Given the description of an element on the screen output the (x, y) to click on. 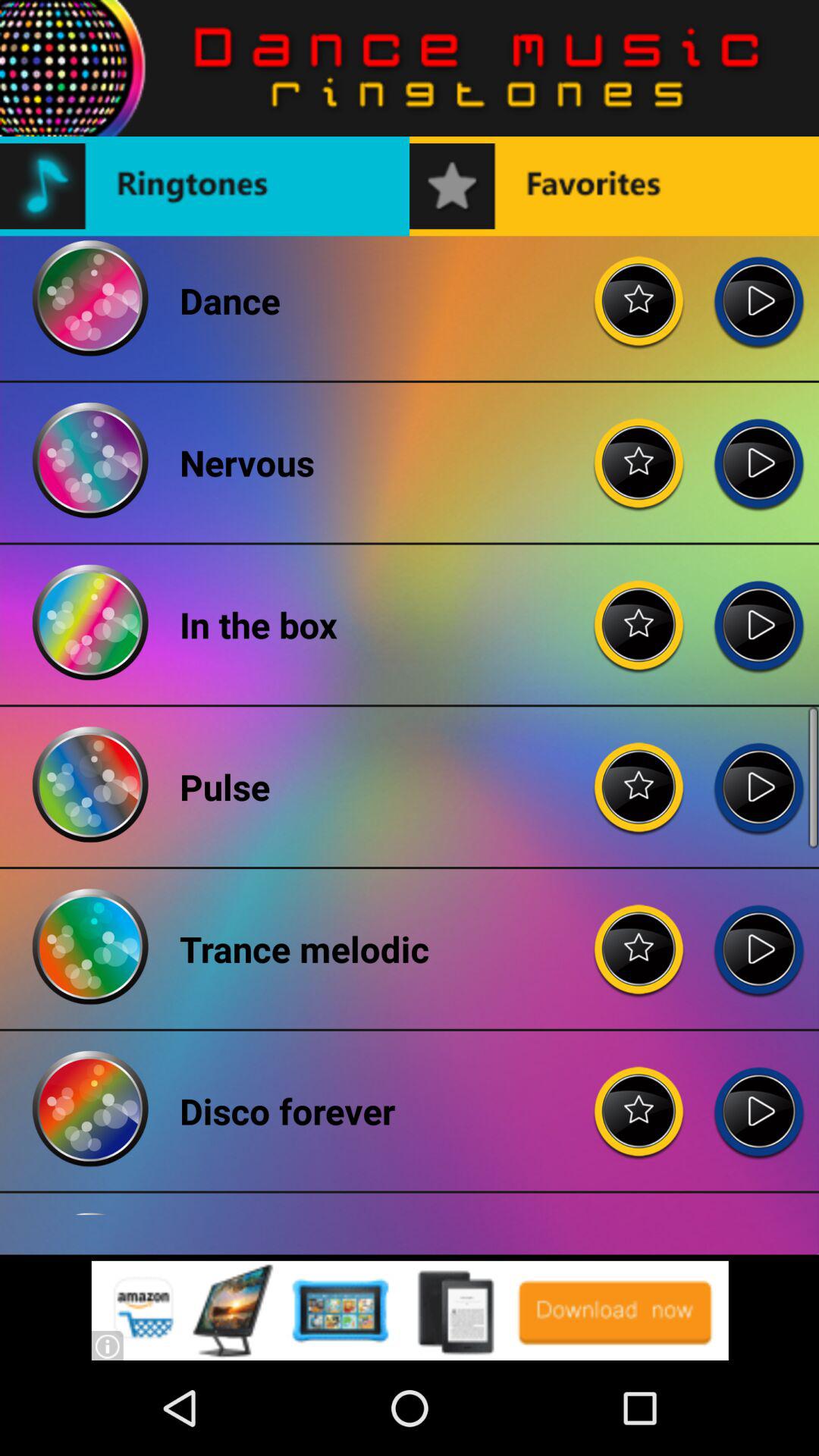
click to favorite option (639, 613)
